Given the description of an element on the screen output the (x, y) to click on. 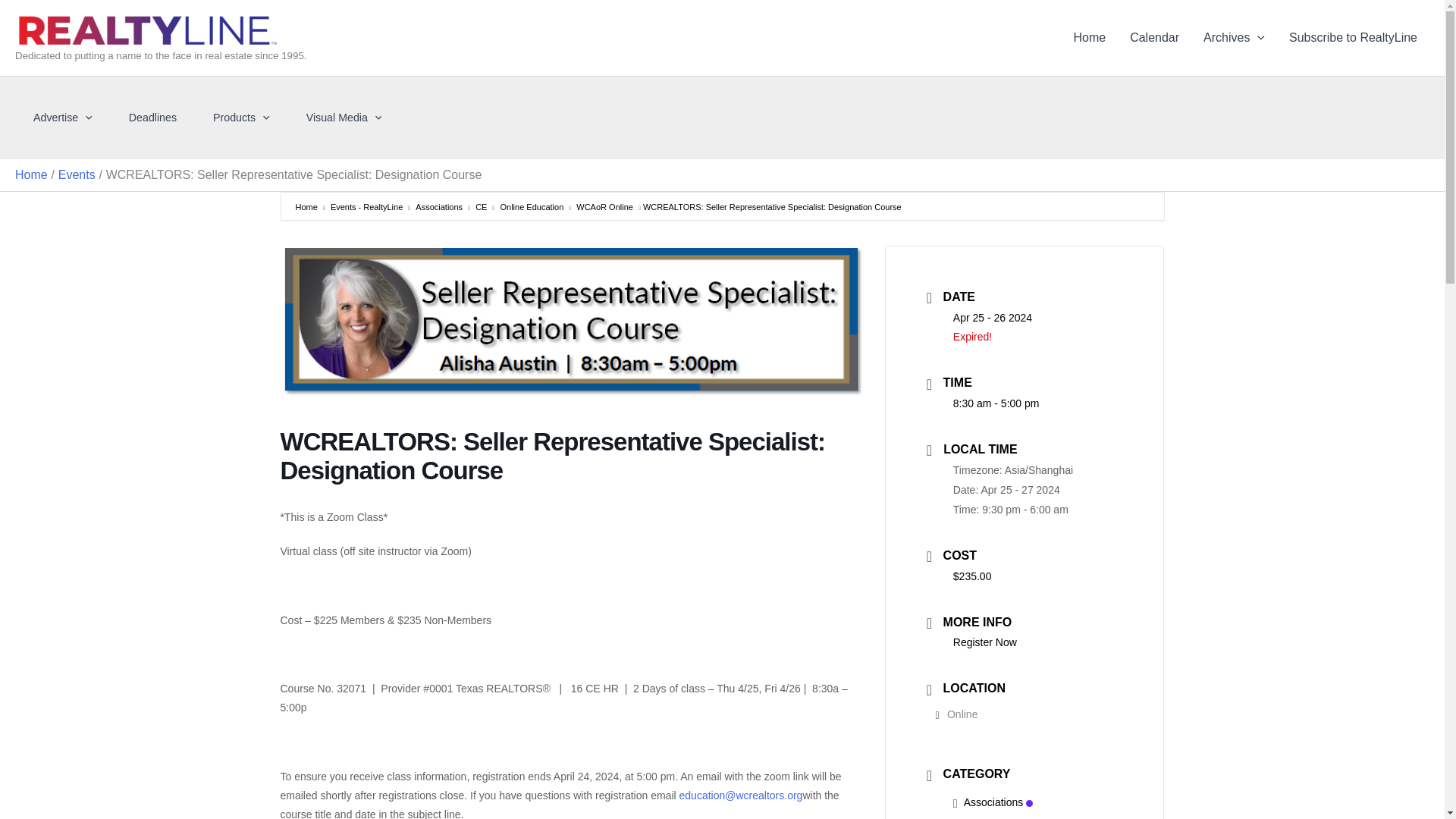
Products (241, 117)
Home (1089, 37)
Calendar (1154, 37)
Subscribe to RealtyLine (1352, 37)
Deadlines (152, 117)
Archives (1233, 37)
Visual Media (344, 117)
Advertise (62, 117)
